Given the description of an element on the screen output the (x, y) to click on. 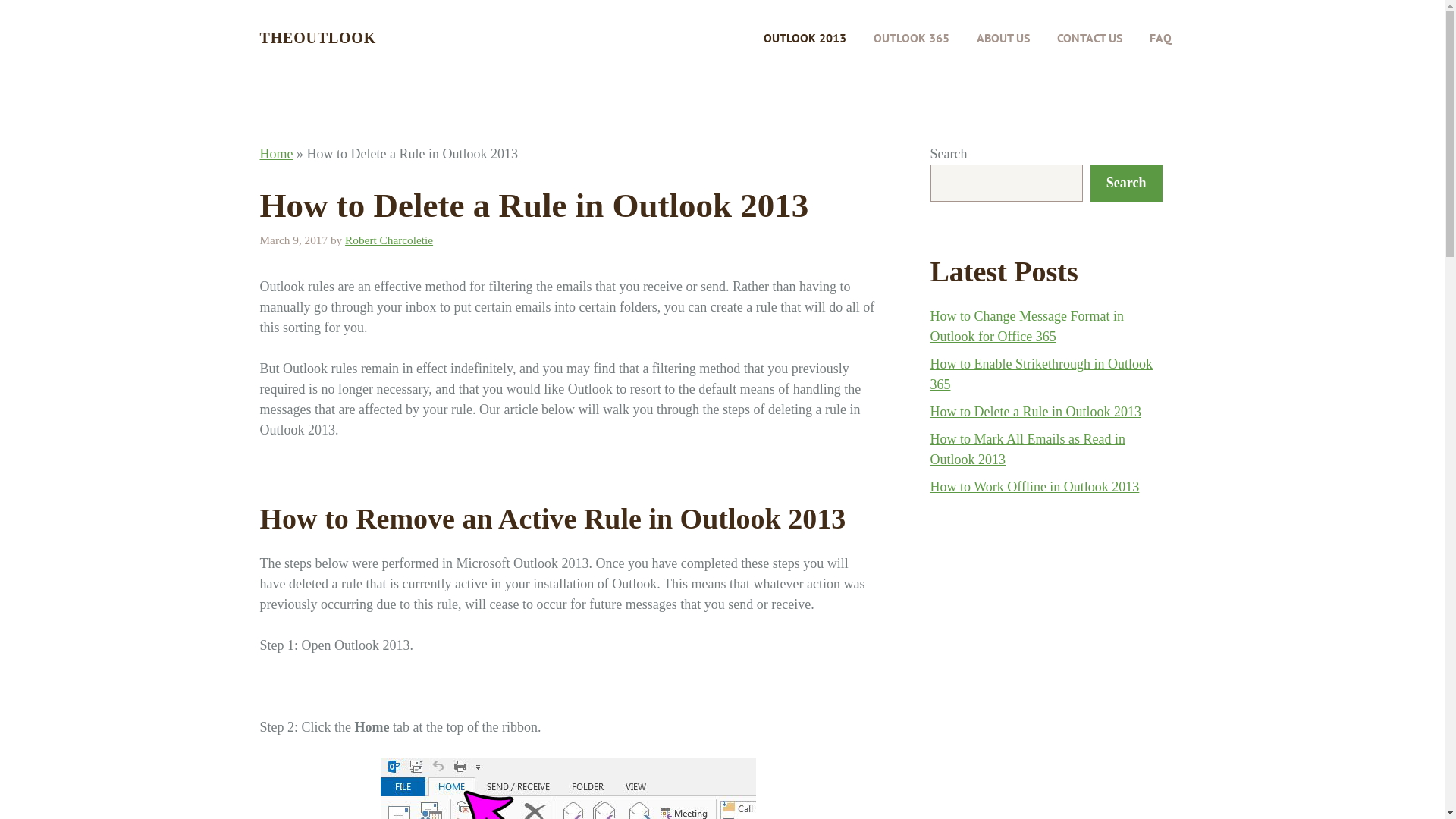
ABOUT US Element type: text (1003, 37)
How to Enable Strikethrough in Outlook 365 Element type: text (1040, 374)
Search Element type: text (1126, 182)
OUTLOOK 365 Element type: text (911, 37)
How to Mark All Emails as Read in Outlook 2013 Element type: text (1026, 449)
Home Element type: text (275, 153)
CONTACT US Element type: text (1089, 37)
OUTLOOK 2013 Element type: text (804, 37)
How to Change Message Format in Outlook for Office 365 Element type: text (1026, 326)
Robert Charcoletie Element type: text (389, 239)
THEOUTLOOK Element type: text (317, 37)
FAQ Element type: text (1160, 37)
How to Work Offline in Outlook 2013 Element type: text (1034, 486)
How to Delete a Rule in Outlook 2013 Element type: text (1034, 411)
